Given the description of an element on the screen output the (x, y) to click on. 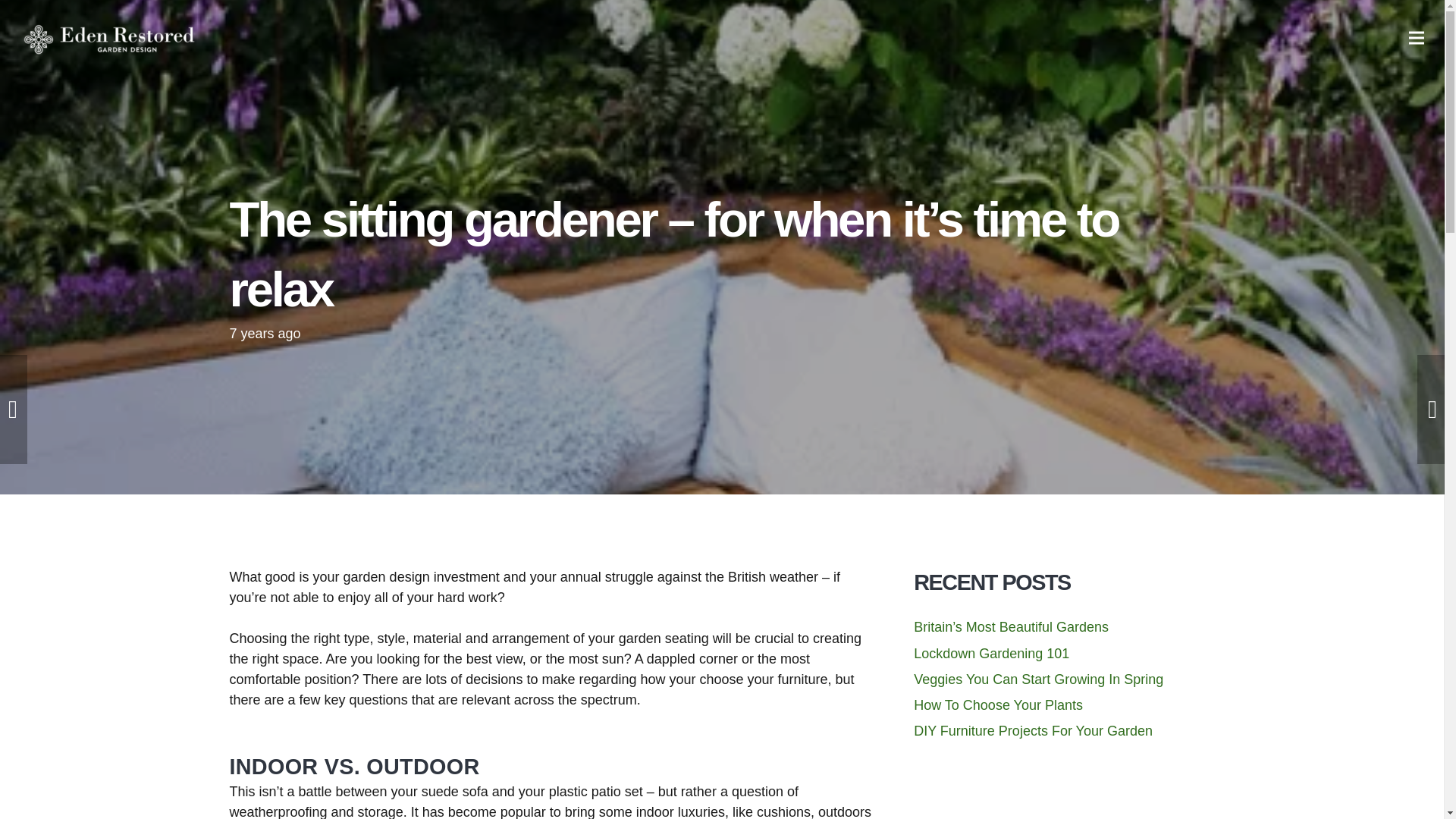
Lockdown Gardening 101 (991, 653)
Veggies You Can Start Growing In Spring (1038, 679)
How To Choose Your Plants (998, 704)
DIY Furniture Projects For Your Garden (1033, 730)
